Given the description of an element on the screen output the (x, y) to click on. 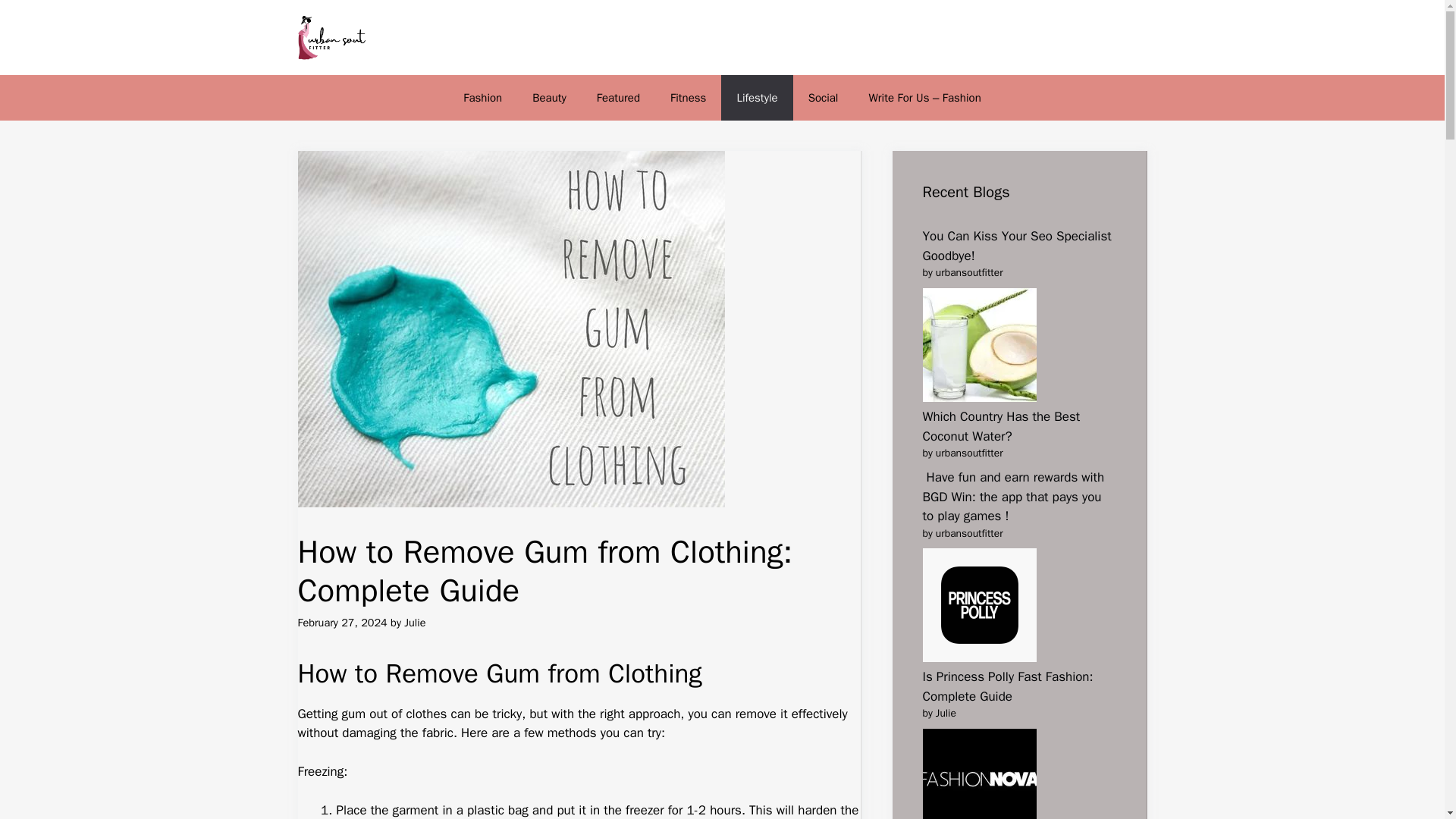
Fitness (687, 97)
Fashion (482, 97)
Beauty (548, 97)
Which Country Has the Best Coconut Water? (1000, 426)
View all posts by Julie (414, 622)
Is Princess Polly Fast Fashion: Complete Guide (1007, 686)
Lifestyle (756, 97)
Featured (617, 97)
Social (823, 97)
